Given the description of an element on the screen output the (x, y) to click on. 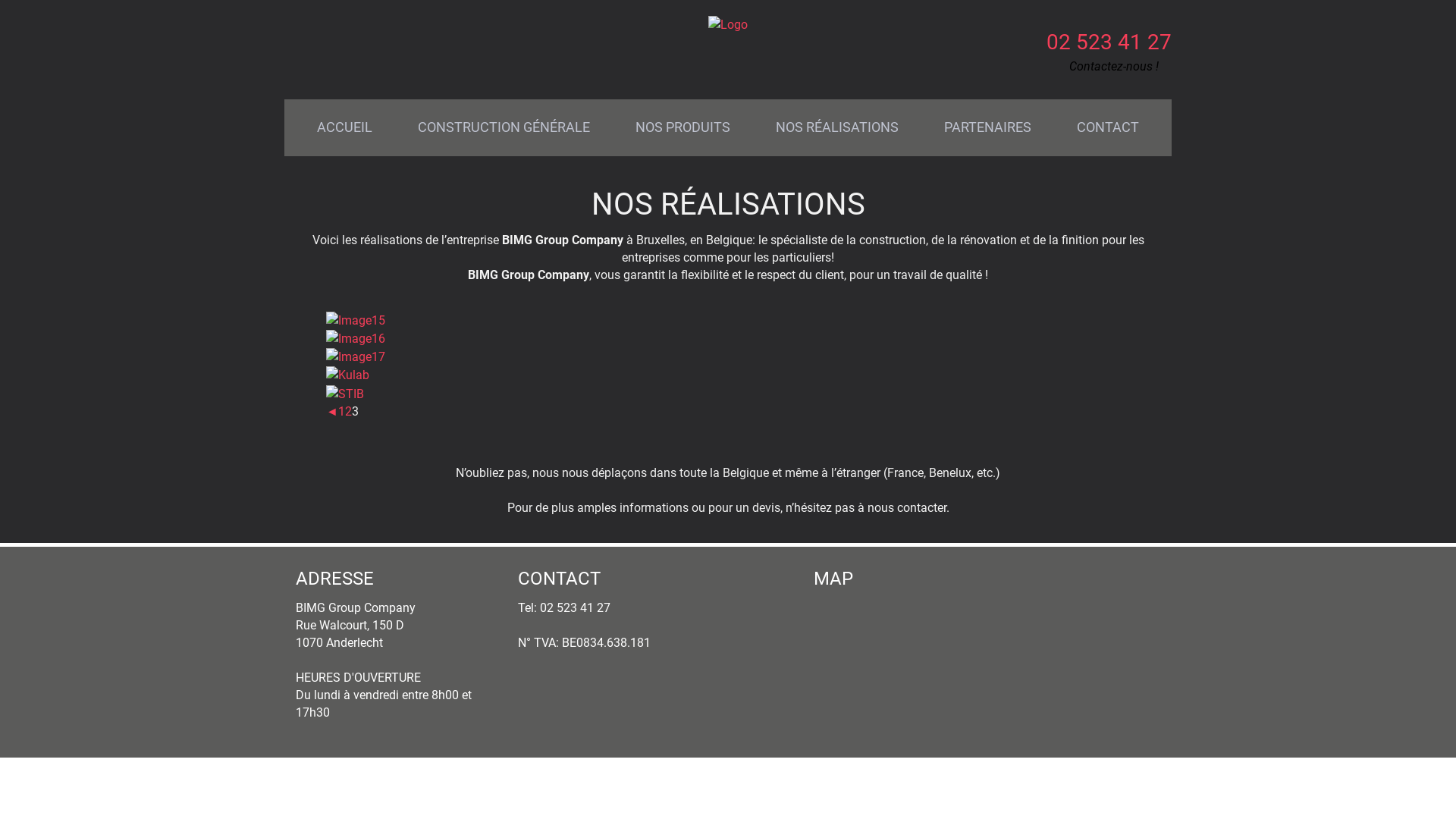
Image15 Element type: hover (355, 320)
CONTACT Element type: text (1107, 127)
PARTENAIRES Element type: text (987, 127)
02 523 41 27 Element type: text (1108, 41)
2 Element type: text (348, 411)
1 Element type: text (341, 411)
NOS PRODUITS Element type: text (682, 127)
Image17 Element type: hover (355, 356)
ACCUEIL Element type: text (344, 127)
Kulab Element type: hover (347, 374)
Image16 Element type: hover (355, 338)
STIB Element type: hover (345, 393)
